Given the description of an element on the screen output the (x, y) to click on. 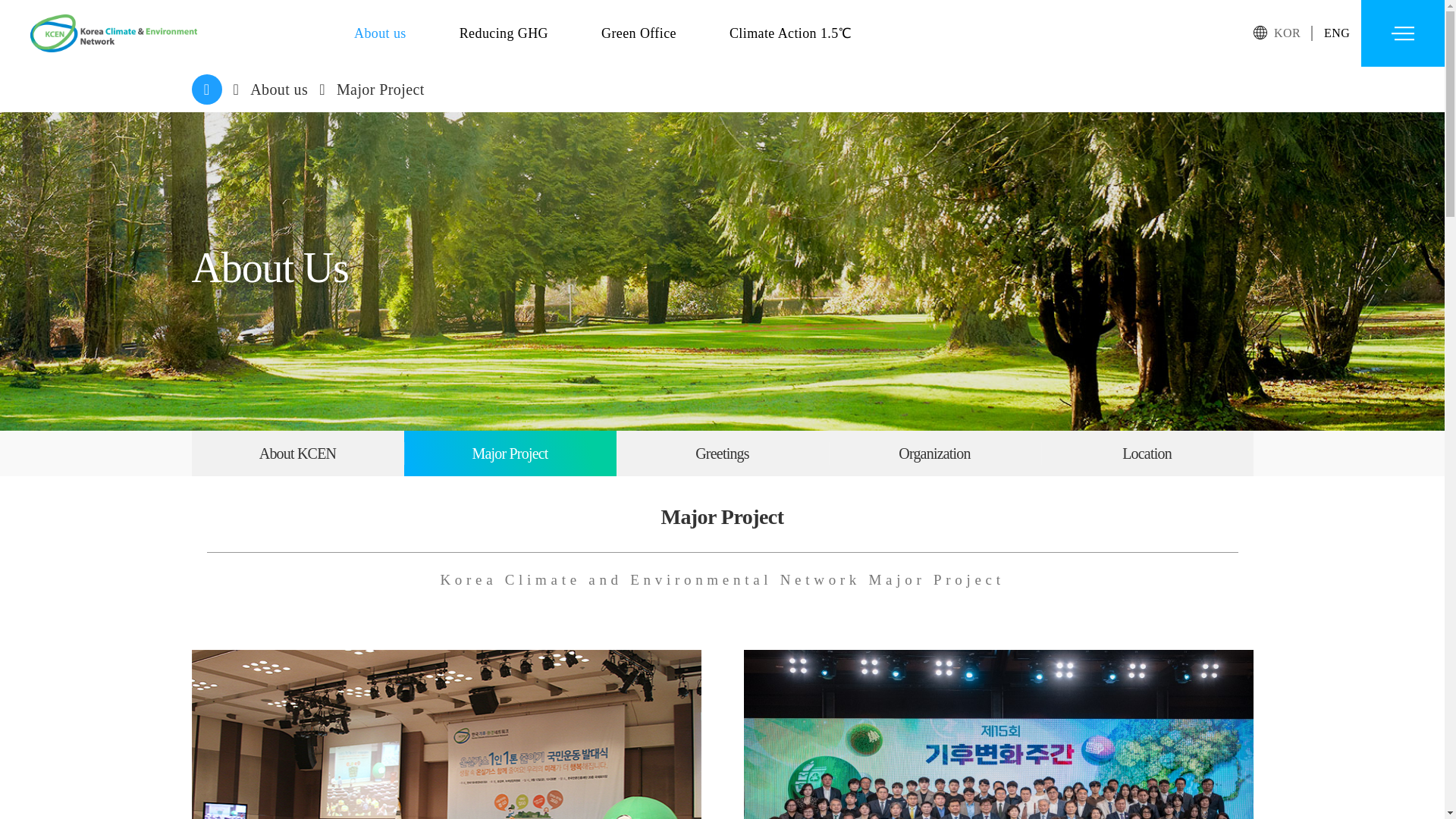
Reducing GHG (504, 33)
About us (278, 89)
Green Office (639, 33)
Reducing GHG (504, 33)
Major Project (380, 89)
About KCEN (296, 452)
Green Office (639, 33)
